Given the description of an element on the screen output the (x, y) to click on. 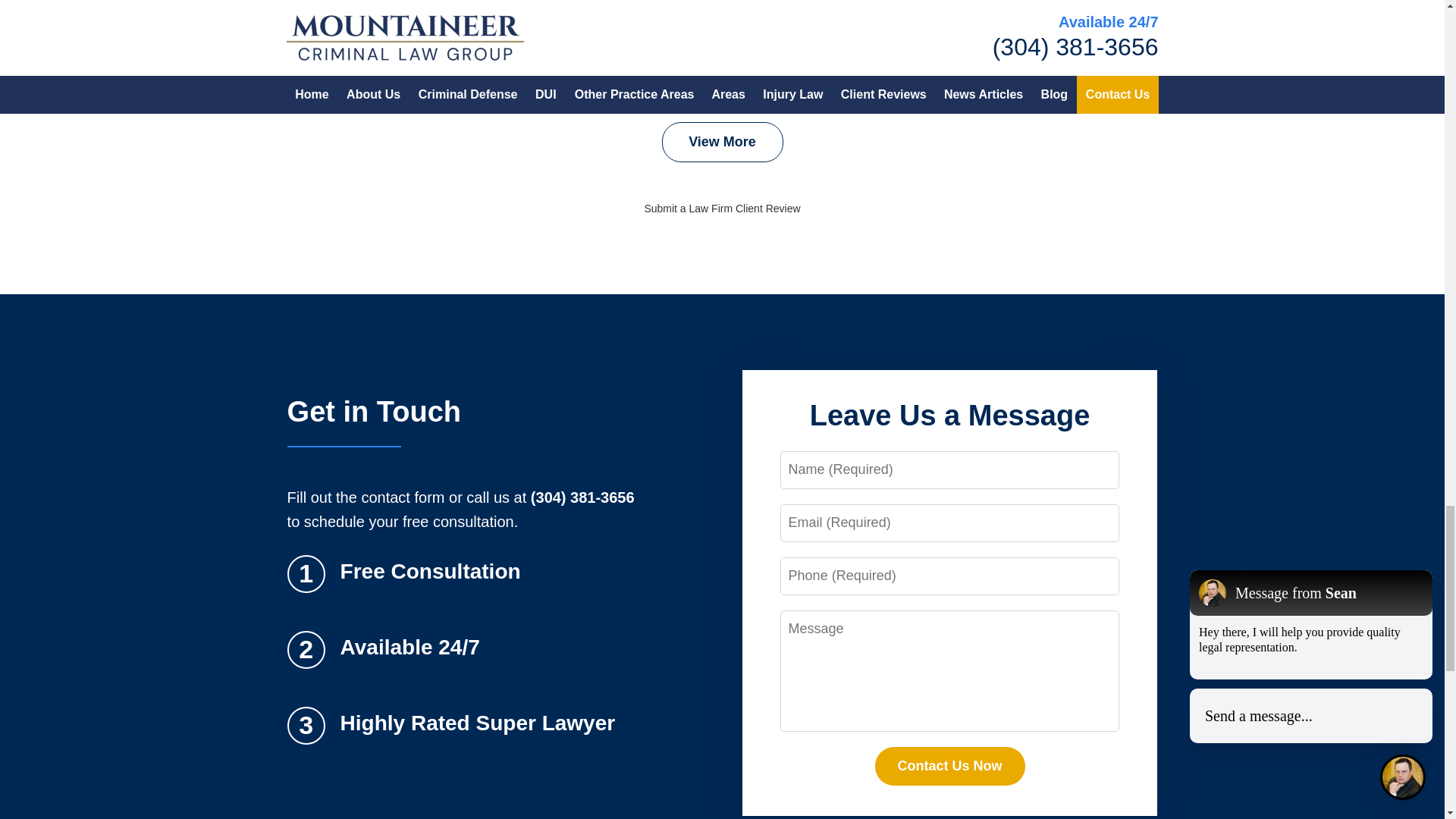
View More (722, 142)
